Given the description of an element on the screen output the (x, y) to click on. 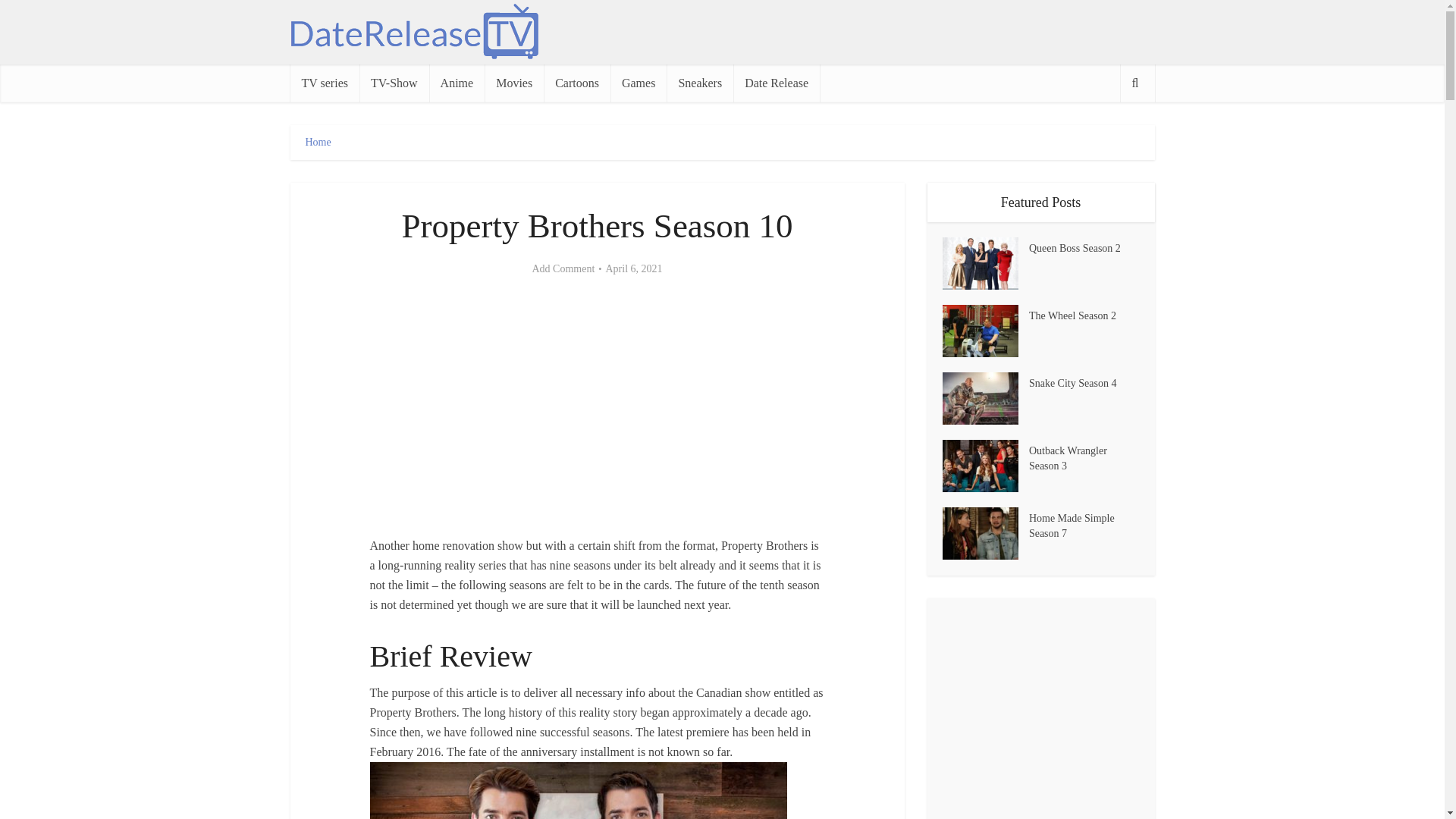
Sneakers (699, 83)
Games (638, 83)
Date Release (776, 83)
TV series (323, 83)
Home (317, 142)
Movies (513, 83)
Queen Boss Season 2 (1084, 246)
Anime (456, 83)
Add Comment (562, 269)
Cartoons (576, 83)
Advertisement (597, 407)
TV-Show (394, 83)
